Given the description of an element on the screen output the (x, y) to click on. 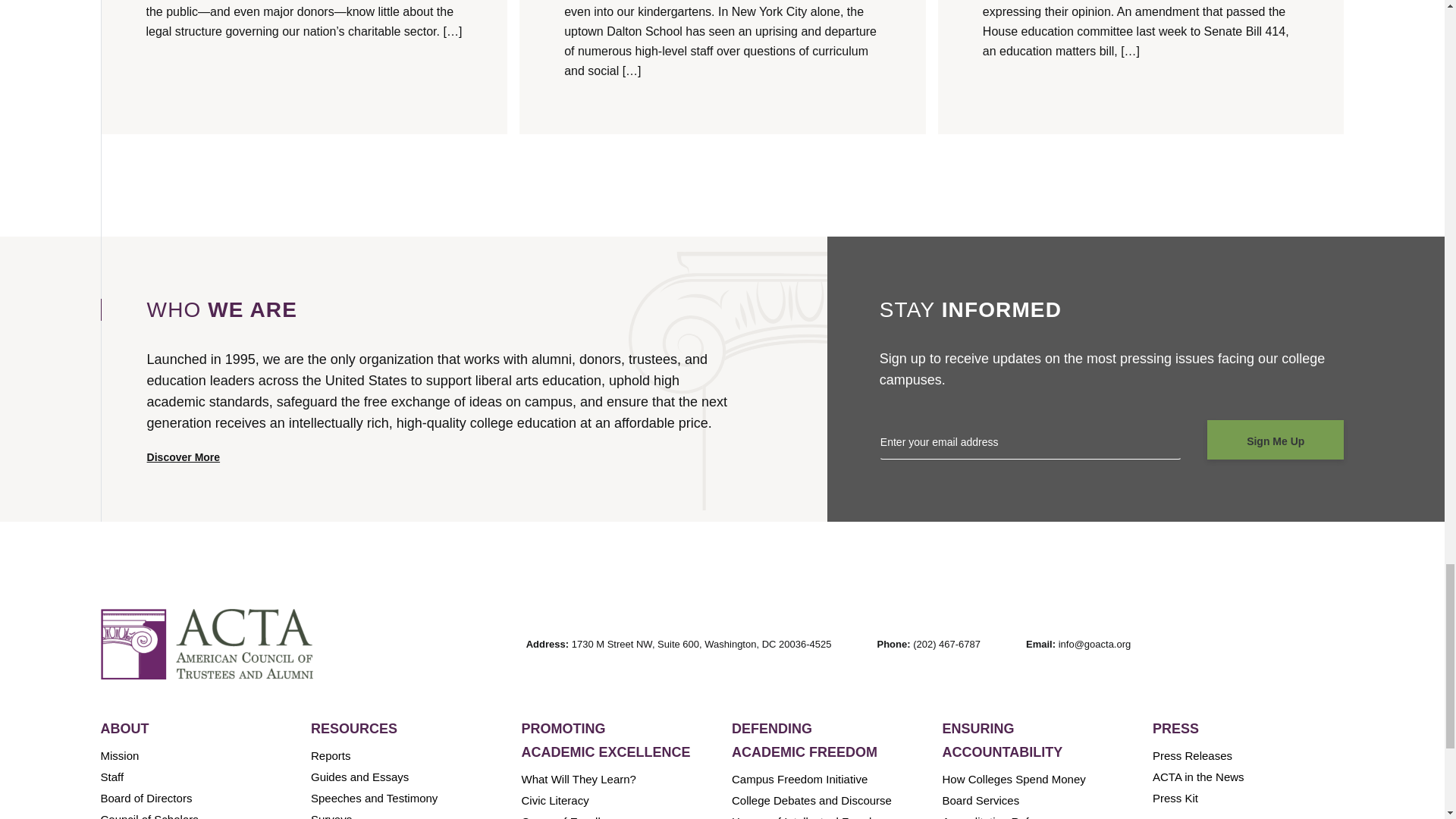
Sign Me Up (1275, 439)
